Given the description of an element on the screen output the (x, y) to click on. 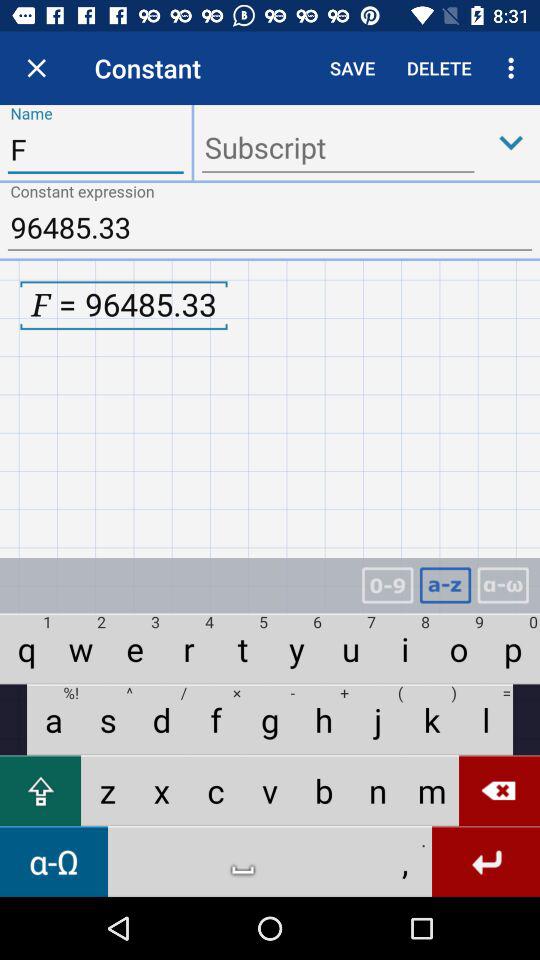
toggle greek alphabet (503, 585)
